Given the description of an element on the screen output the (x, y) to click on. 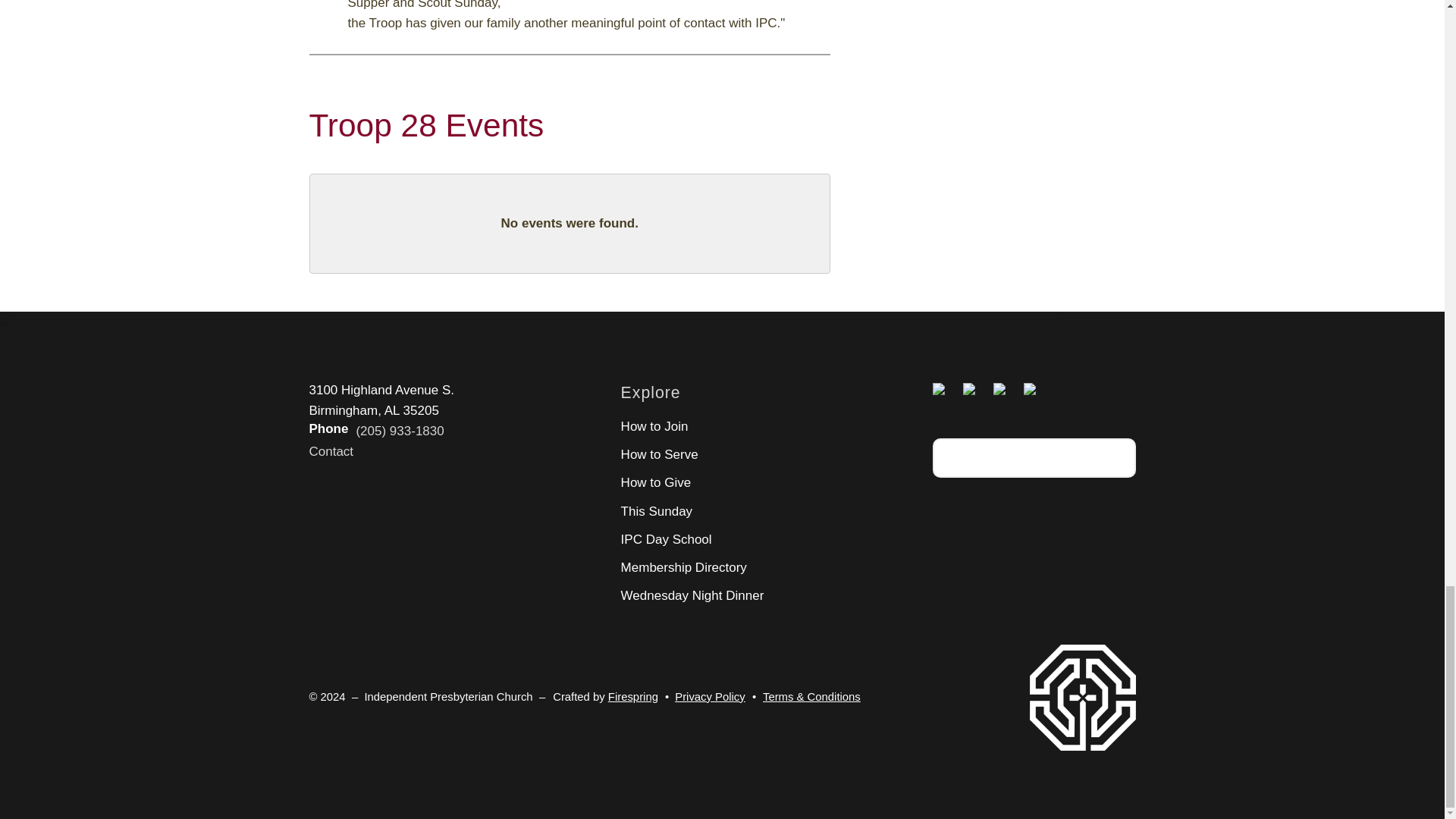
logo (1082, 697)
